Given the description of an element on the screen output the (x, y) to click on. 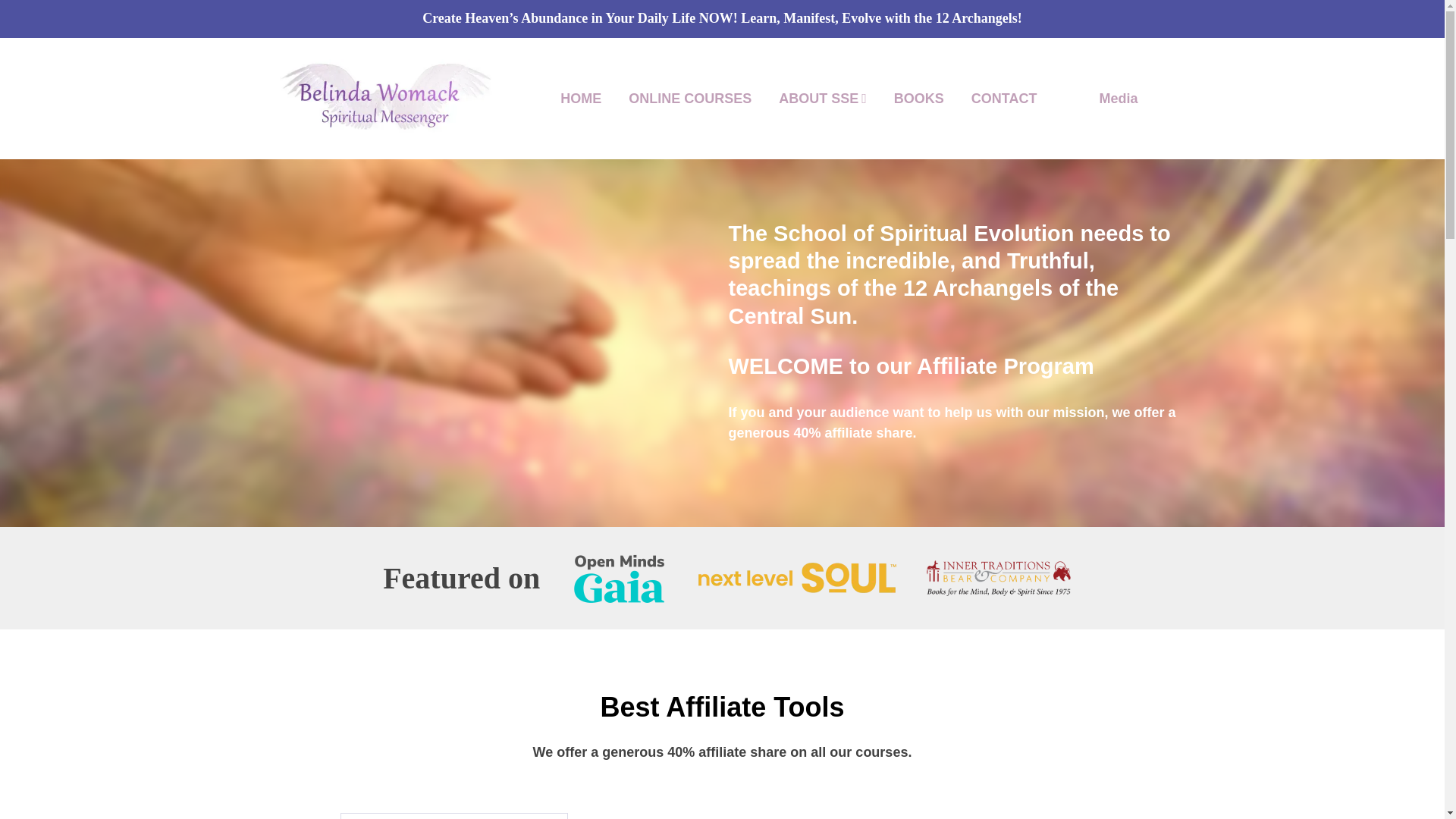
HOME (580, 98)
BOOKS (918, 98)
ABOUT SSE (818, 98)
ONLINE COURSES (689, 98)
Media (1117, 98)
CONTACT (1003, 98)
